Given the description of an element on the screen output the (x, y) to click on. 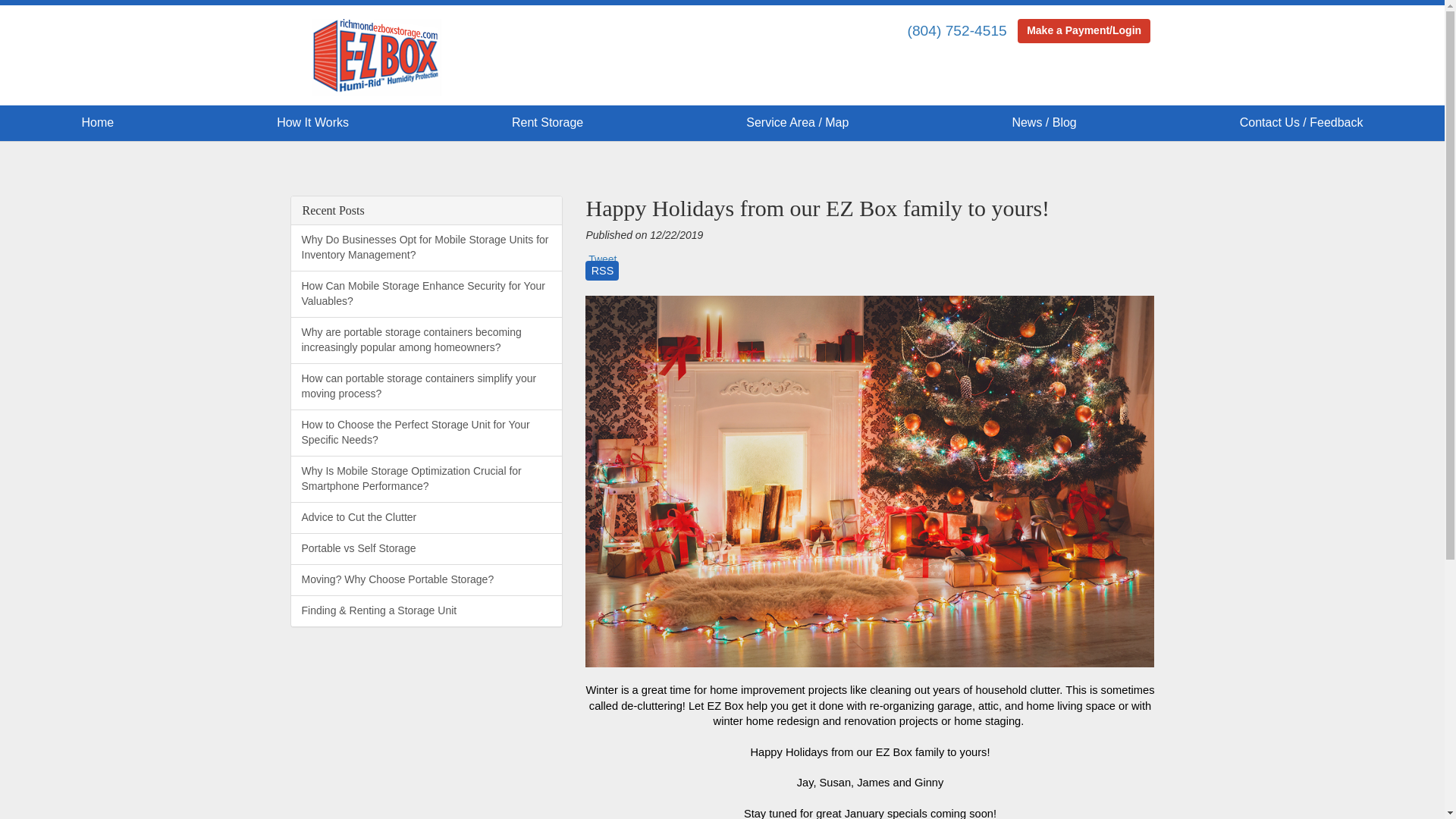
Moving? Why Choose Portable Storage? (426, 580)
Home (97, 122)
Portable vs Self Storage (426, 549)
Advice to Cut the Clutter (426, 517)
Rent Storage (546, 122)
RSS (601, 275)
Tweet (601, 259)
How Can Mobile Storage Enhance Security for Your Valuables? (426, 294)
How It Works (312, 122)
